Given the description of an element on the screen output the (x, y) to click on. 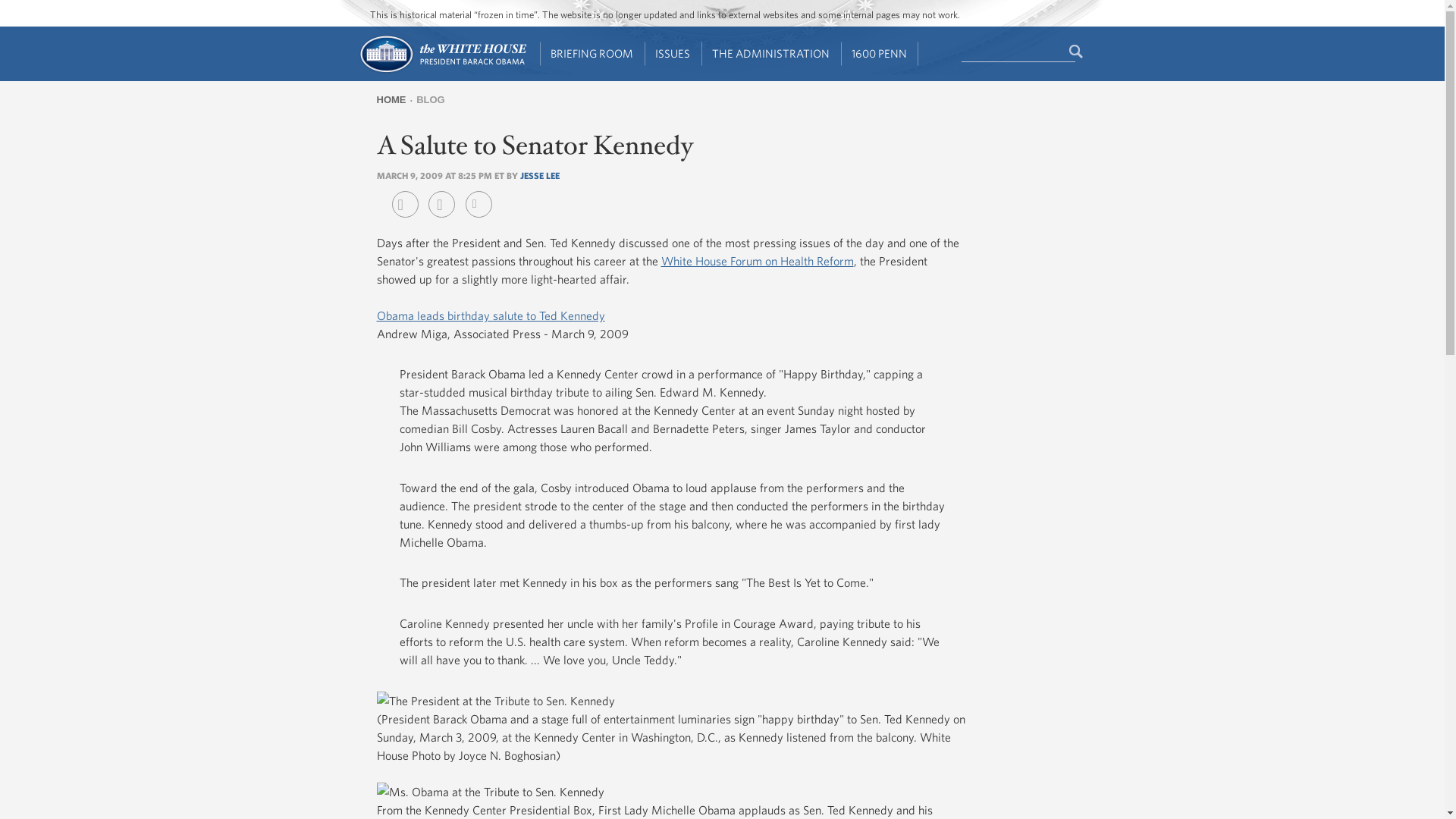
BRIEFING ROOM (592, 53)
Home (441, 70)
Enter the terms you wish to search for. (1017, 52)
Search (1076, 51)
ISSUES (673, 53)
